Given the description of an element on the screen output the (x, y) to click on. 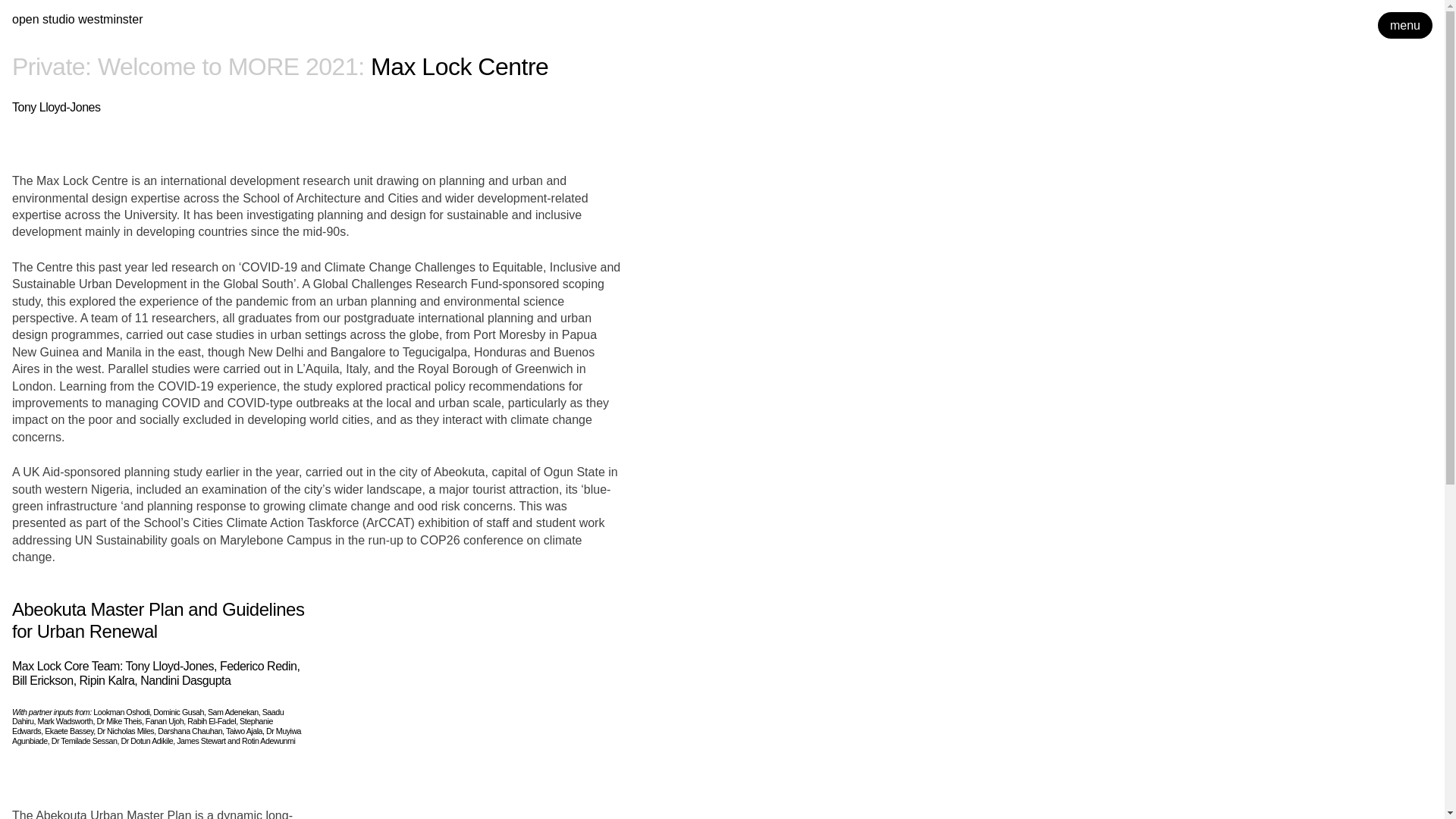
open studio westminster (76, 19)
menu (1404, 25)
